Given the description of an element on the screen output the (x, y) to click on. 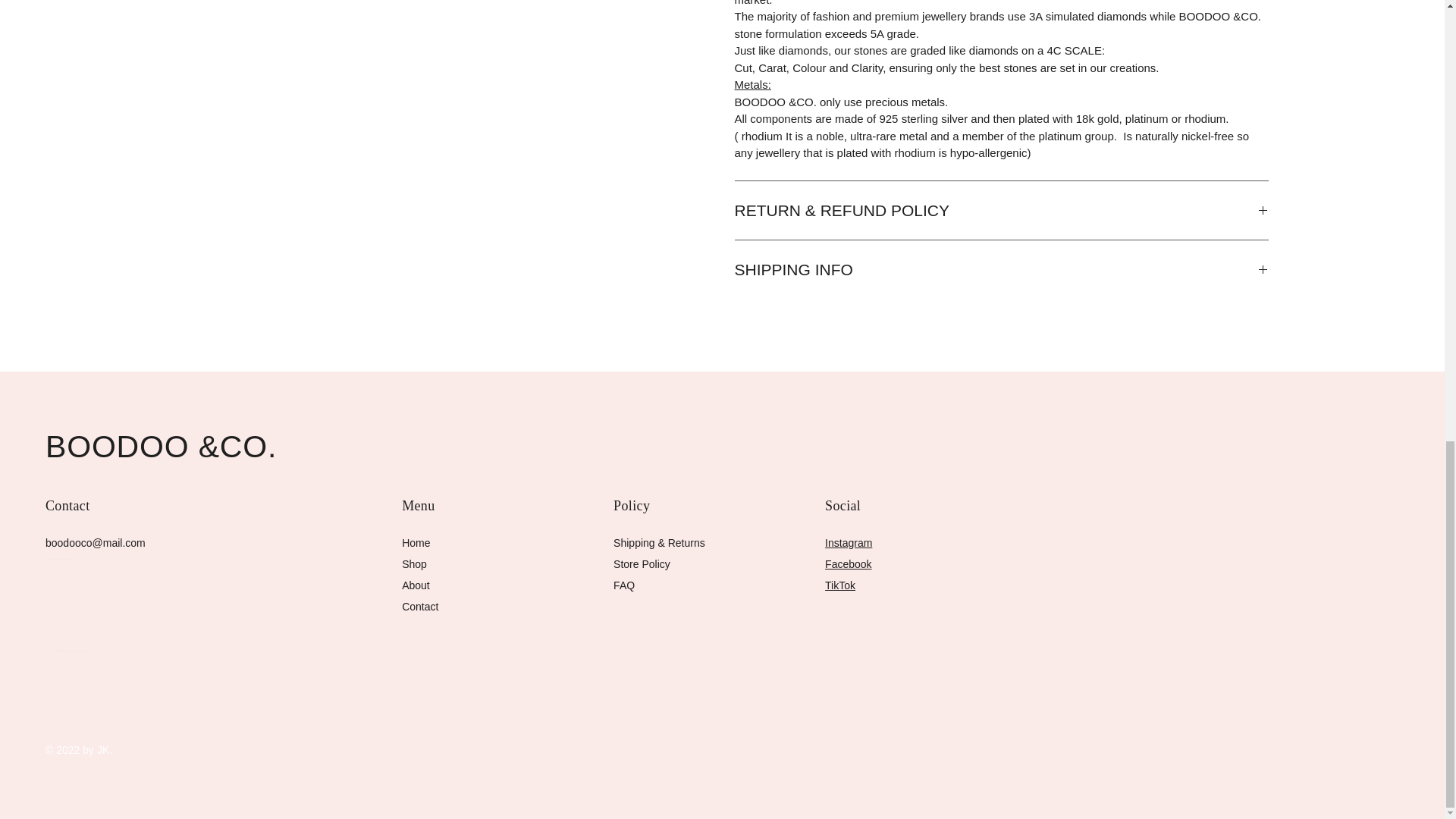
FAQ (623, 585)
Home (415, 542)
Shop (413, 563)
About (415, 585)
Facebook (847, 563)
Instagram (848, 542)
TikTok (840, 585)
SHIPPING INFO (1000, 269)
Contact (419, 606)
Store Policy (640, 563)
